Given the description of an element on the screen output the (x, y) to click on. 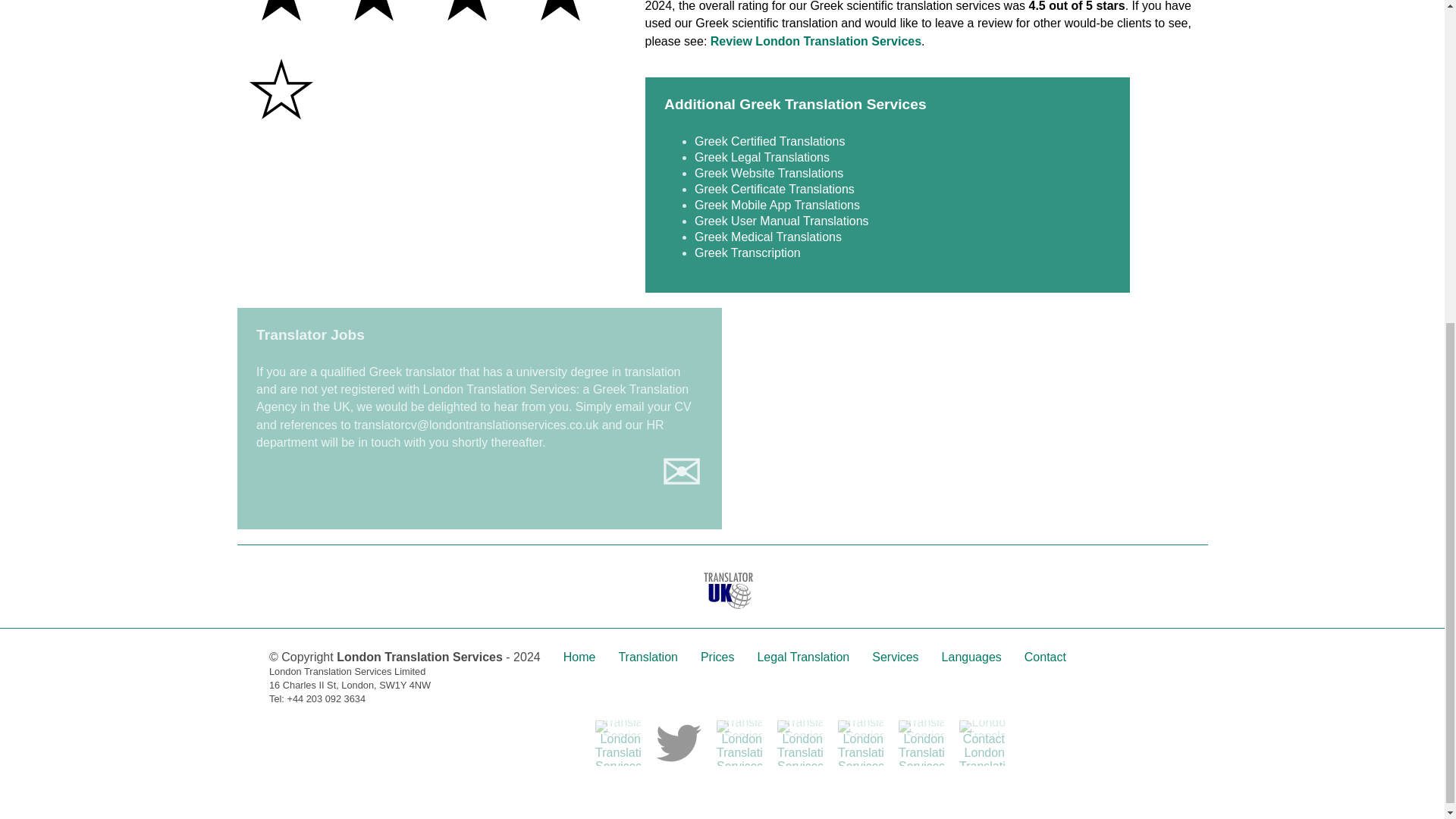
Review London Translation Services (815, 41)
Greek Legal Translations (761, 156)
Review Greek Translation Agency UK (815, 41)
Translator Jobs (310, 334)
Greek Transcription (747, 252)
Translation (647, 656)
Greek Translation Agency in the UK (472, 398)
Home (579, 656)
Greek Certificate Translations (774, 188)
Greek Website Translations (768, 173)
Languages (971, 656)
Services (895, 656)
Greek Mobile App Translations (777, 205)
4.5 out of 5 stars (429, 70)
Greek Certified Translations (769, 141)
